Given the description of an element on the screen output the (x, y) to click on. 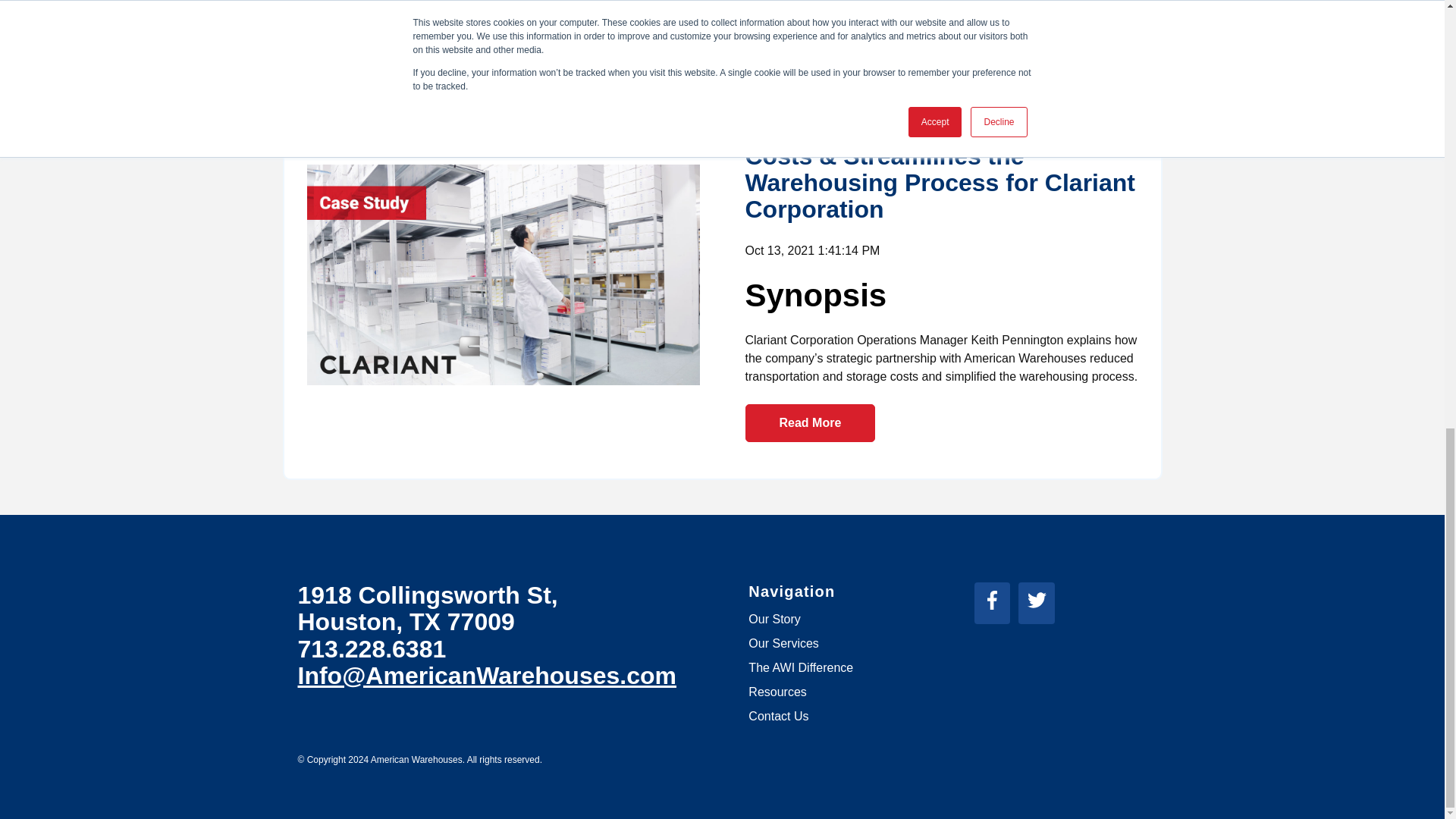
Follow us on Facebook (996, 605)
Follow us on Facebook (991, 599)
Read More (809, 423)
Our Story (773, 618)
Contact Us (778, 716)
The AWI Difference (800, 667)
Follow us on Twitter (1039, 605)
Follow us on Twitter (1036, 599)
Resources (777, 691)
Our Services (783, 643)
